Given the description of an element on the screen output the (x, y) to click on. 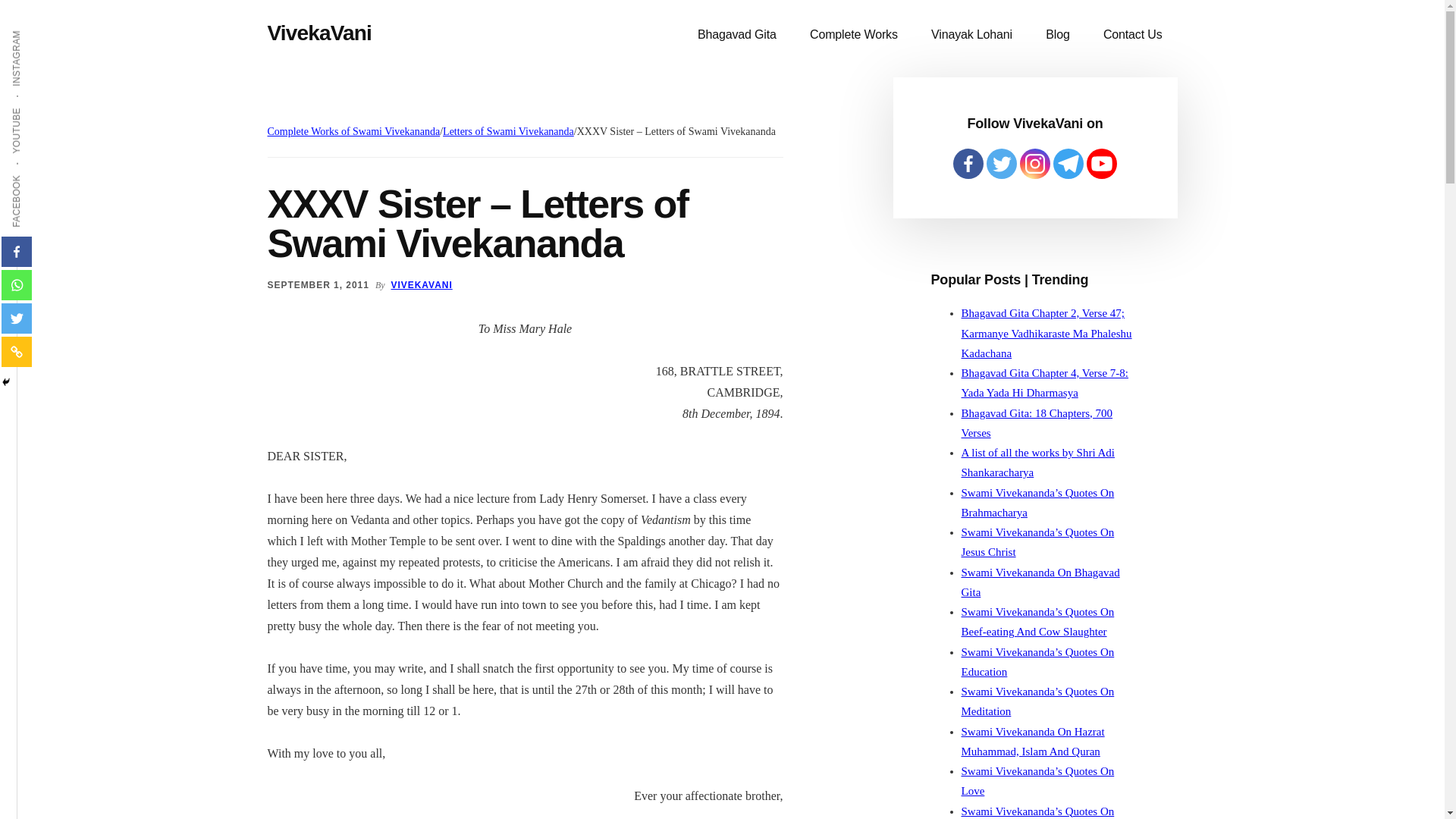
Facebook (16, 251)
Complete Works (853, 34)
Twitter (16, 318)
VivekaVani (318, 33)
Go to the Letters of Swami Vivekananda Category archives. (507, 131)
Telegram (1067, 163)
FACEBOOK (44, 173)
INSTAGRAM (45, 28)
Twitter (1001, 163)
